Given the description of an element on the screen output the (x, y) to click on. 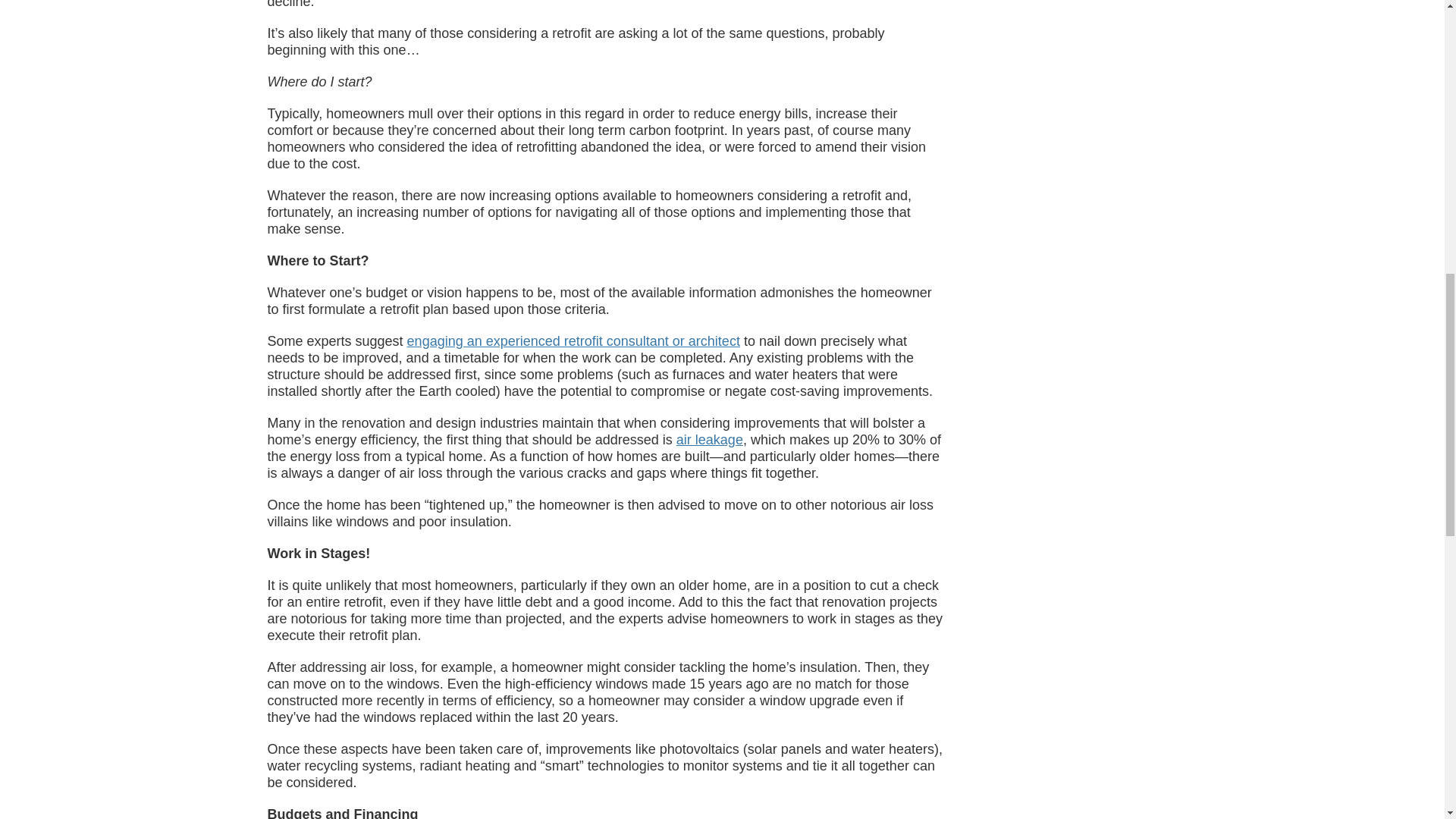
air leakage (709, 439)
engaging an experienced retrofit consultant or architect (573, 340)
